Given the description of an element on the screen output the (x, y) to click on. 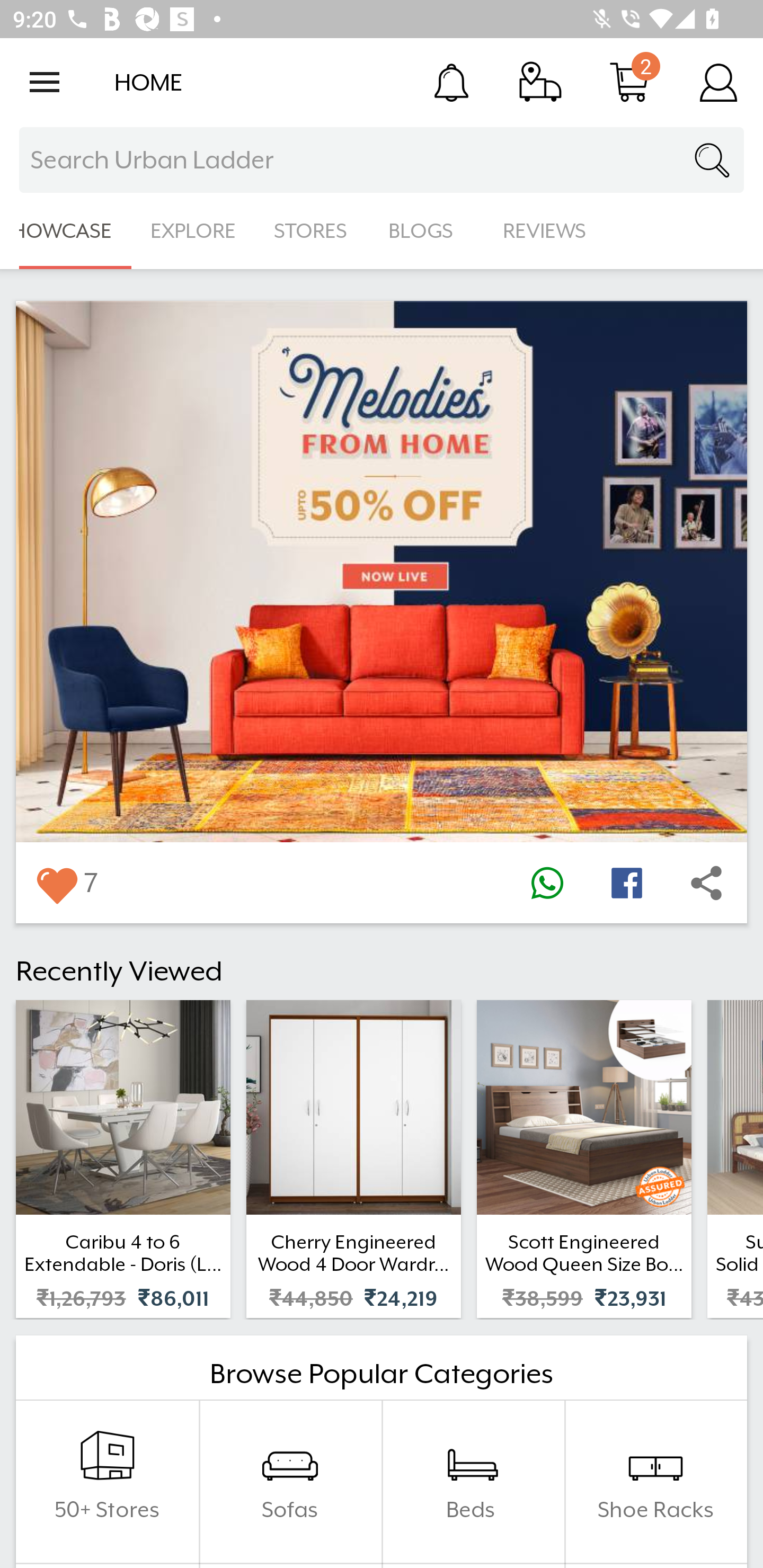
Open navigation drawer (44, 82)
Notification (450, 81)
Track Order (540, 81)
Cart (629, 81)
Account Details (718, 81)
Search Urban Ladder  (381, 159)
SHOWCASE (65, 230)
EXPLORE (192, 230)
STORES (311, 230)
BLOGS (426, 230)
REVIEWS (544, 230)
 (55, 882)
 (547, 882)
 (626, 882)
 (706, 882)
50+ Stores (106, 1481)
Sofas (289, 1481)
Beds  (473, 1481)
Shoe Racks (655, 1481)
